Given the description of an element on the screen output the (x, y) to click on. 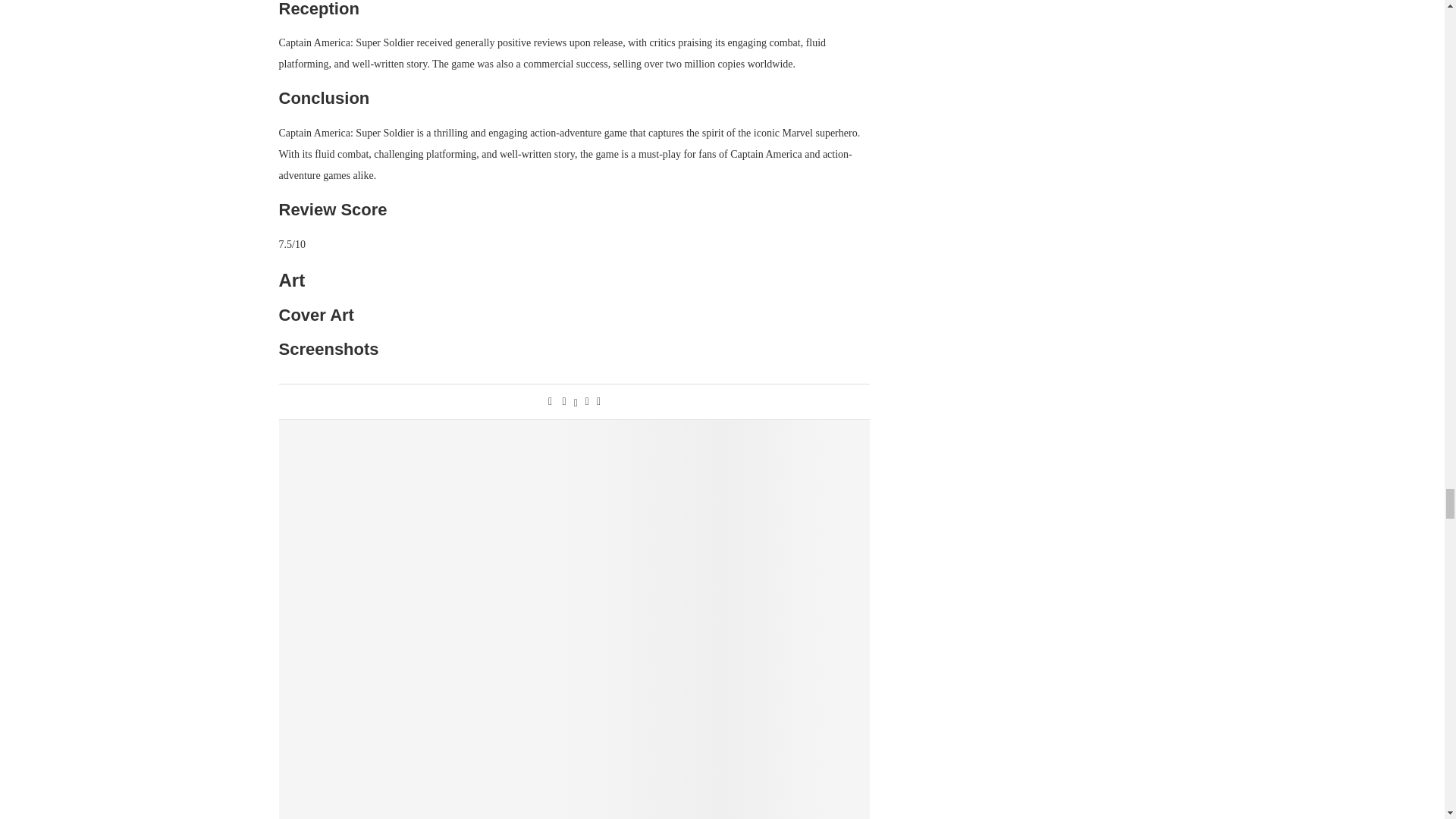
Like (549, 401)
